Given the description of an element on the screen output the (x, y) to click on. 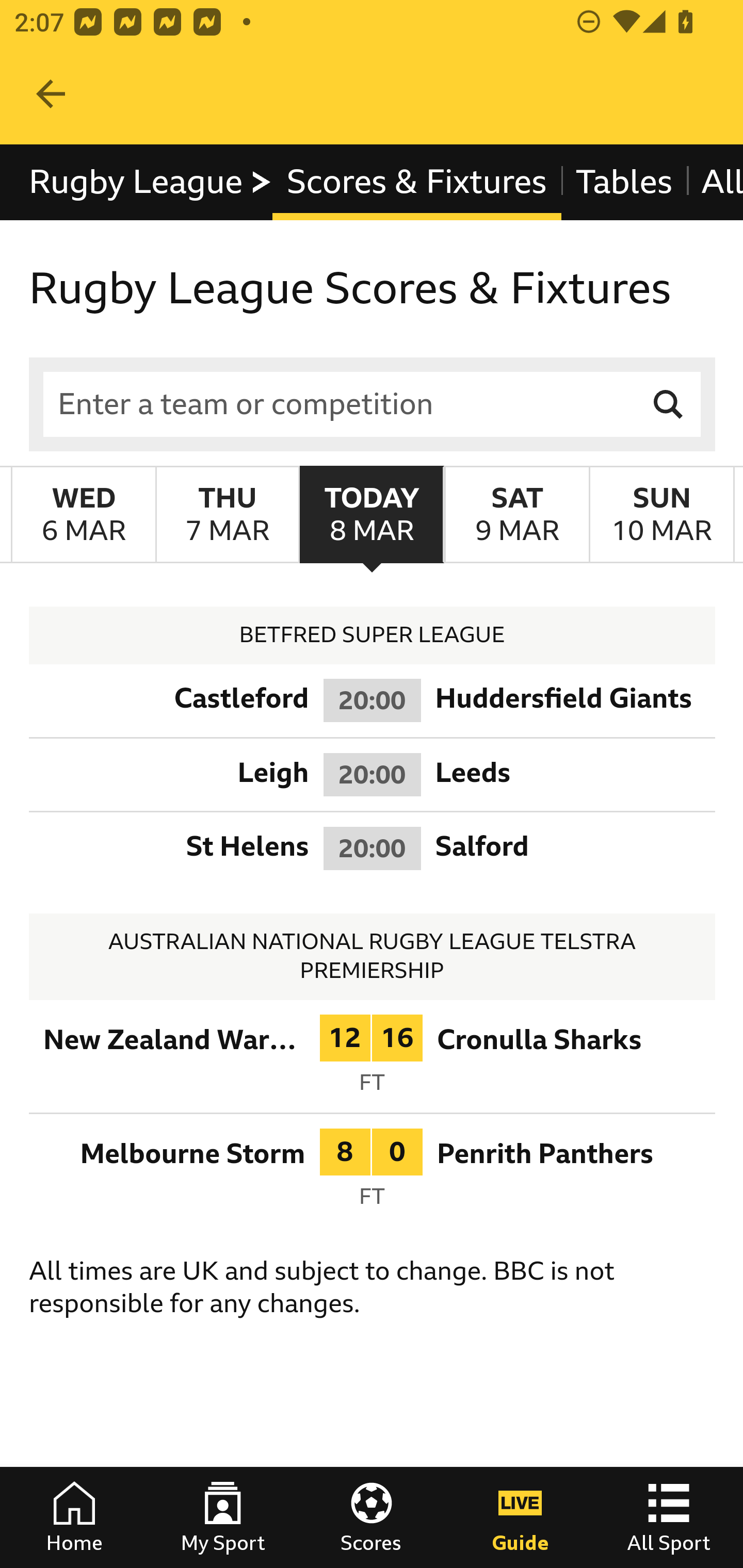
Navigate up (50, 93)
Rugby League  (150, 181)
Scores & Fixtures (416, 181)
Tables (623, 181)
Search (669, 404)
WednesdayMarch 6th Wednesday March 6th (83, 513)
ThursdayMarch 7th Thursday March 7th (227, 513)
SaturdayMarch 9th Saturday March 9th (516, 513)
SundayMarch 10th Sunday March 10th (661, 513)
Home (74, 1517)
My Sport (222, 1517)
Scores (371, 1517)
All Sport (668, 1517)
